Given the description of an element on the screen output the (x, y) to click on. 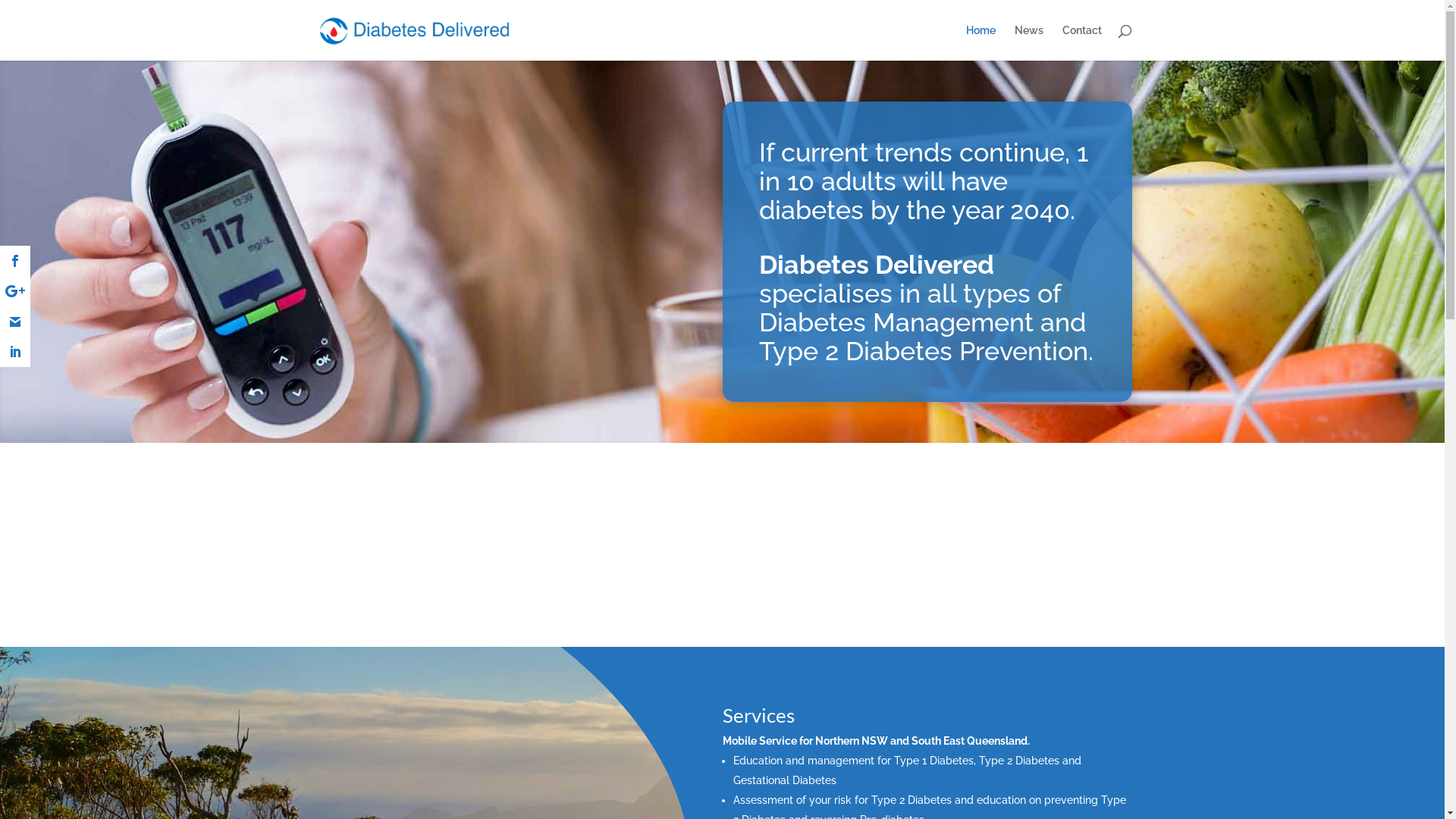
News Element type: text (1028, 42)
Home Element type: text (980, 42)
Contact Element type: text (1081, 42)
